Given the description of an element on the screen output the (x, y) to click on. 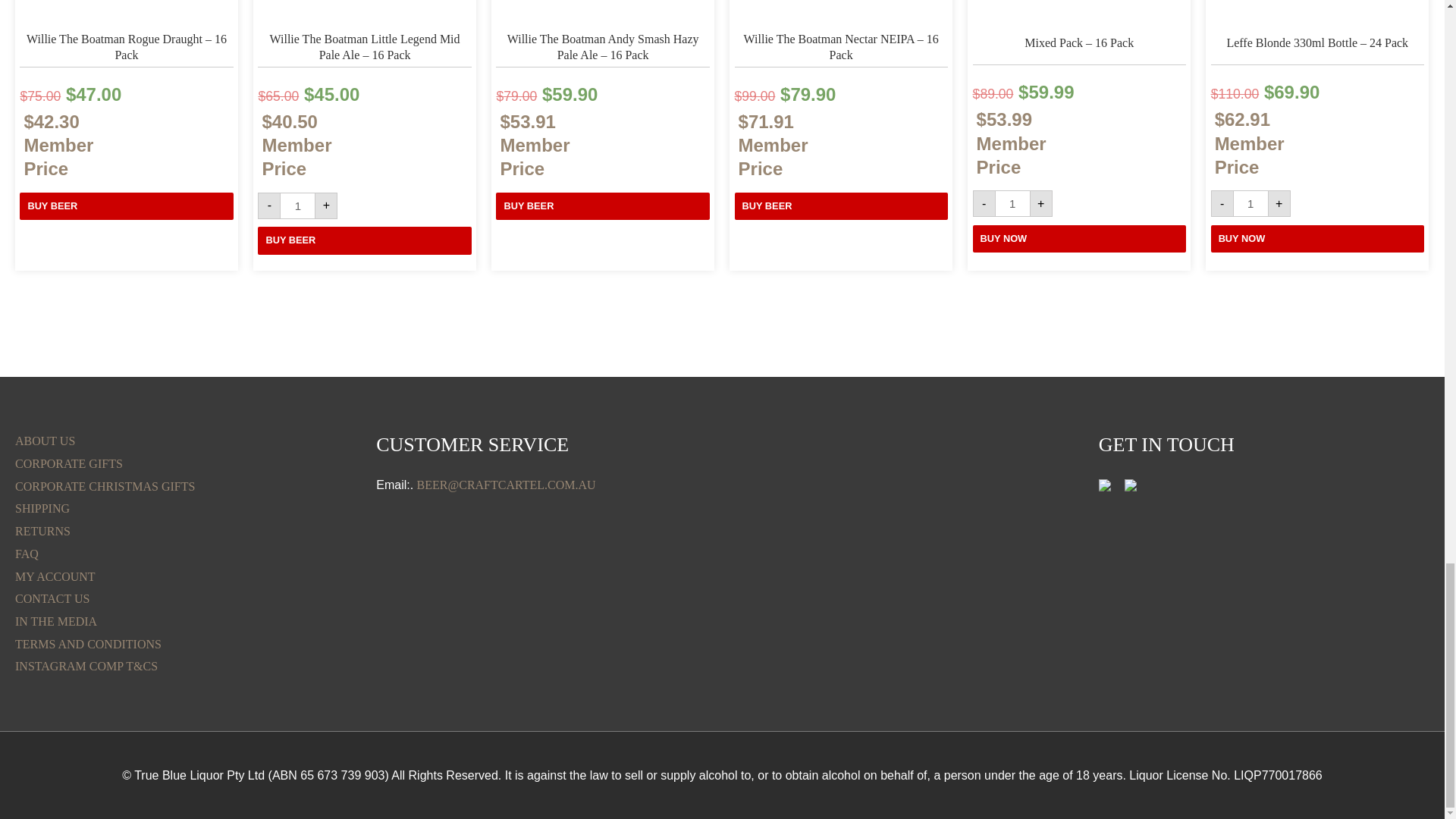
1 (1012, 203)
Qty (1250, 203)
1 (297, 205)
1 (1250, 203)
Qty (1012, 203)
Qty (297, 205)
